Given the description of an element on the screen output the (x, y) to click on. 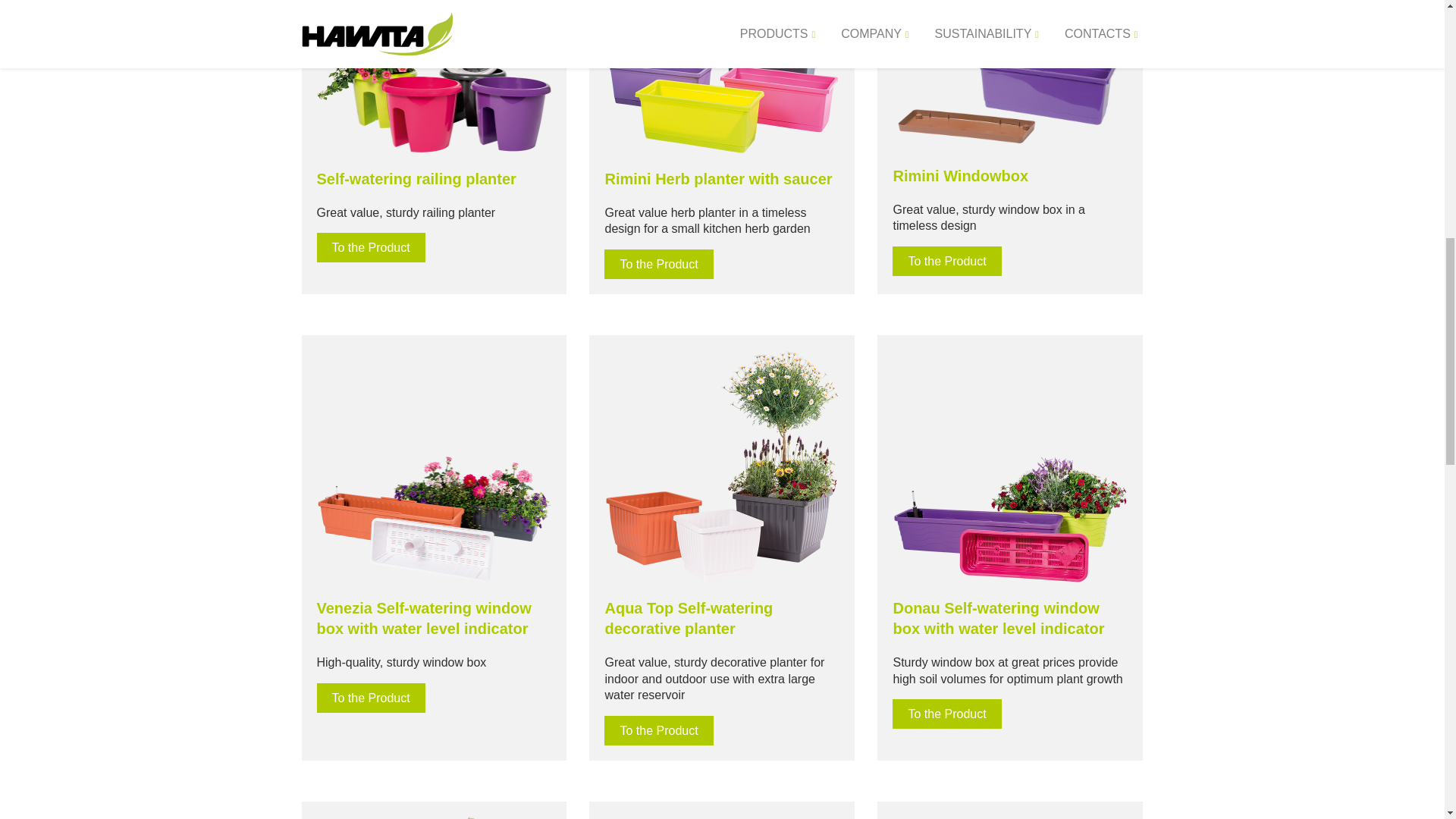
To the Product (371, 247)
Self-watering railing planter (416, 178)
